Given the description of an element on the screen output the (x, y) to click on. 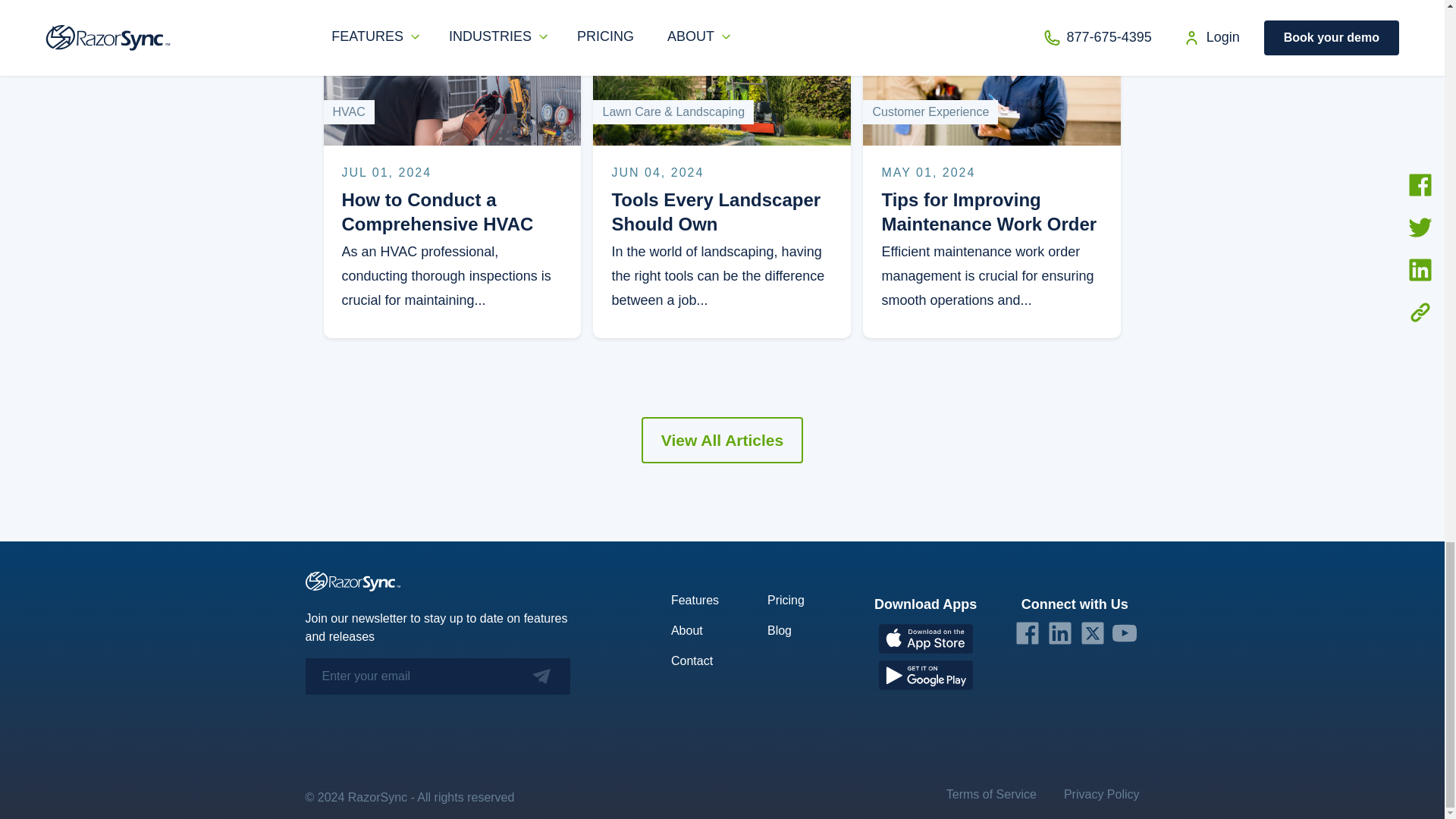
Subscribe (523, 676)
